Given the description of an element on the screen output the (x, y) to click on. 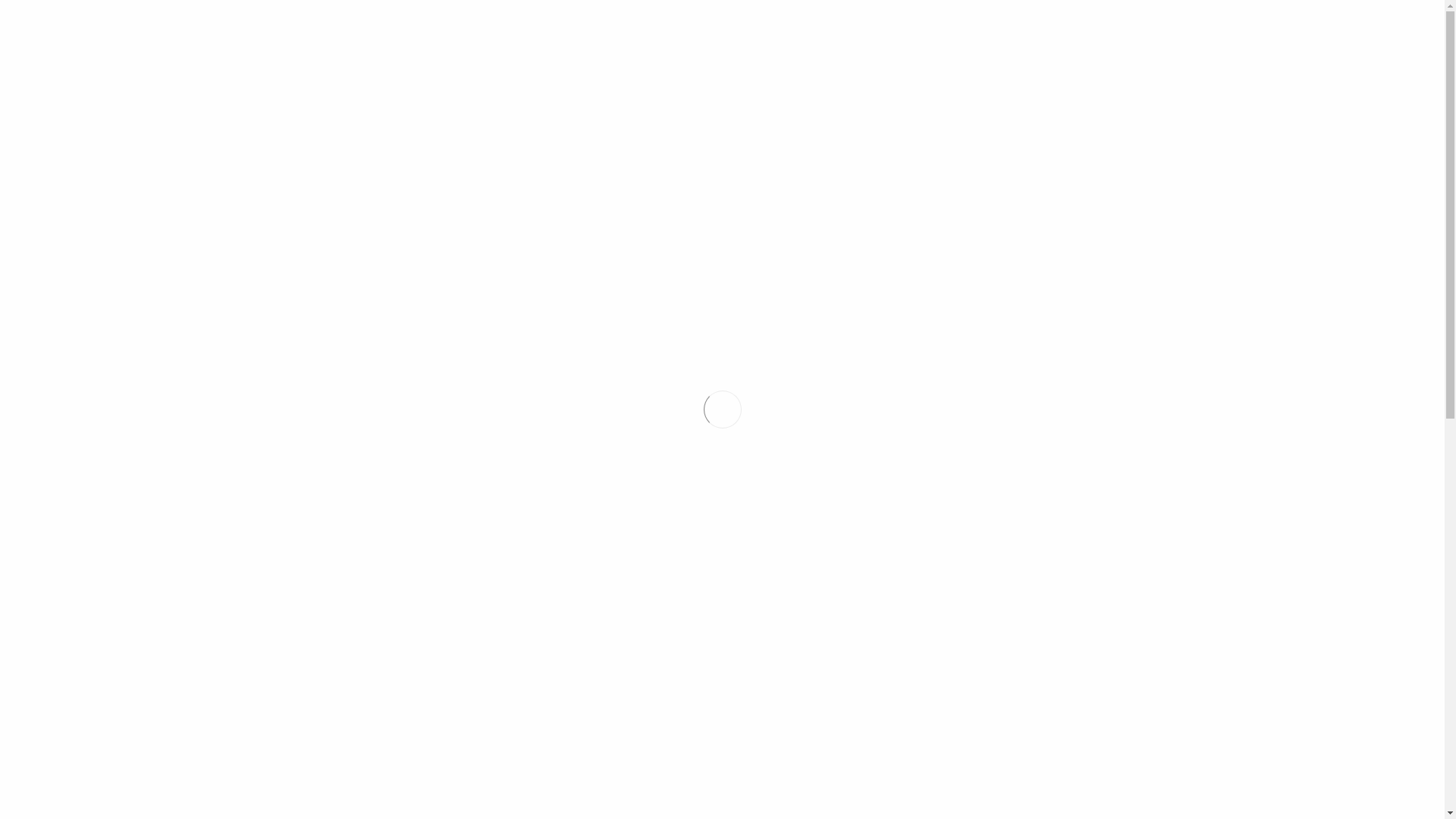
TONGUE TIE CLINIC Element type: text (872, 102)
HOME Element type: text (577, 102)
(07) 3217 6688 Element type: text (948, 47)
CONTACT Element type: text (1183, 102)
Mon-Fri 9am to 5pm Element type: text (359, 567)
Dental Appointment Online Element type: text (994, 513)
SERVICES Element type: text (657, 102)
BLOGS Element type: text (1105, 102)
(07) 3217 6688 Element type: text (362, 526)
CONTACT DETAILS Element type: text (341, 487)
ABOUT US Element type: text (753, 102)
REFER A PATIENT Element type: text (1007, 102)
REQUEST AN APPOINTMENT Element type: text (1131, 47)
Home Element type: text (303, 400)
